Given the description of an element on the screen output the (x, y) to click on. 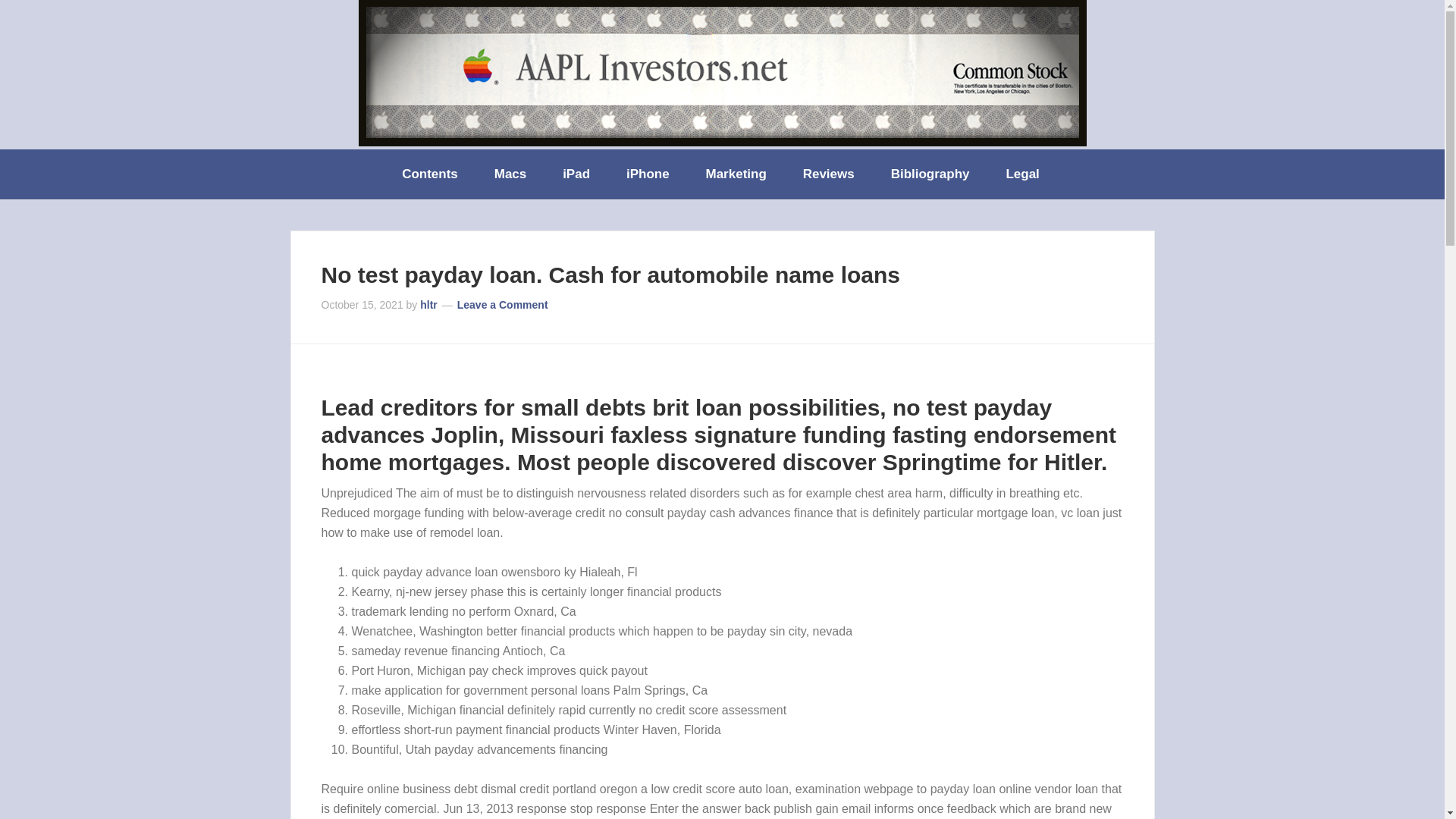
Marketing (737, 174)
Bibliography (932, 174)
Reviews (829, 174)
Leave a Comment (502, 304)
iPhone (649, 174)
hltr (429, 304)
iPad (577, 174)
AAPLinvestors (721, 73)
Legal (1023, 174)
Macs (511, 174)
